Given the description of an element on the screen output the (x, y) to click on. 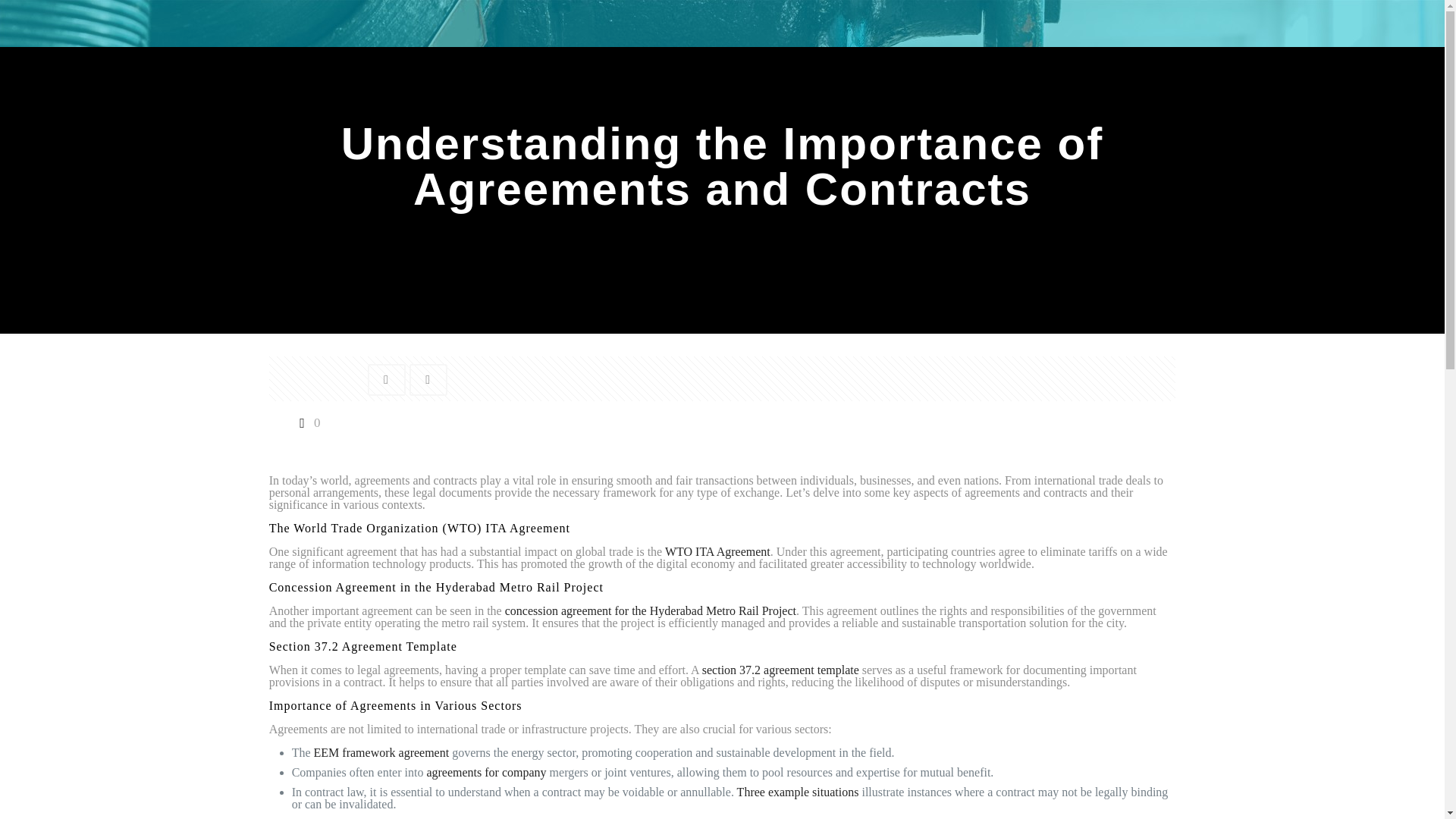
0 (306, 422)
section 37.2 agreement template (780, 669)
concession agreement for the Hyderabad Metro Rail Project (650, 610)
agreements for company (486, 771)
WTO ITA Agreement (717, 551)
Three example situations (797, 791)
EEM framework agreement (381, 752)
